Given the description of an element on the screen output the (x, y) to click on. 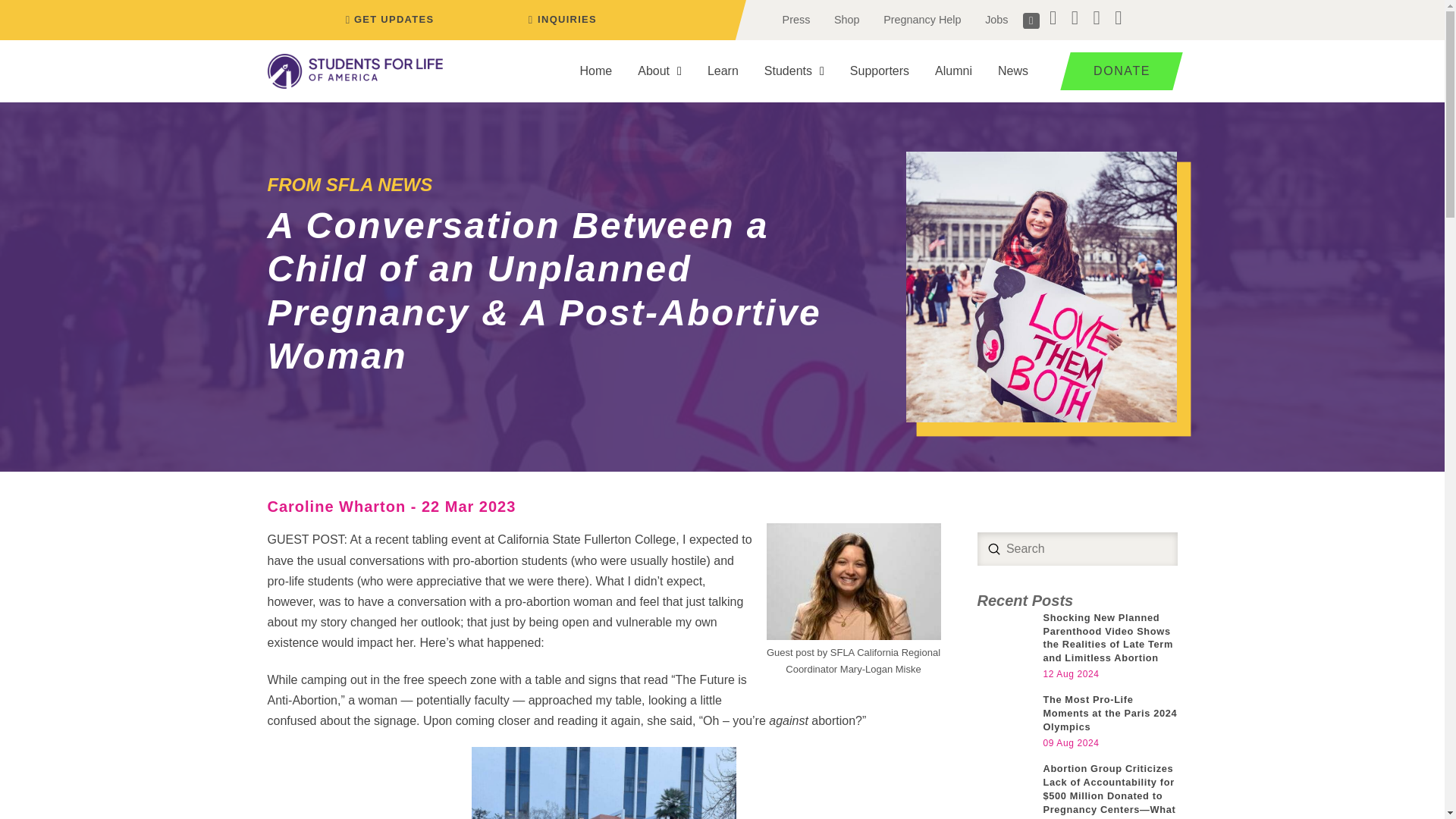
Supporters (879, 71)
Jobs (996, 20)
News (1013, 71)
Pregnancy Help (921, 20)
Home (596, 71)
About (659, 71)
Students (794, 71)
Learn (722, 71)
Shop (846, 20)
Alumni (953, 71)
